Given the description of an element on the screen output the (x, y) to click on. 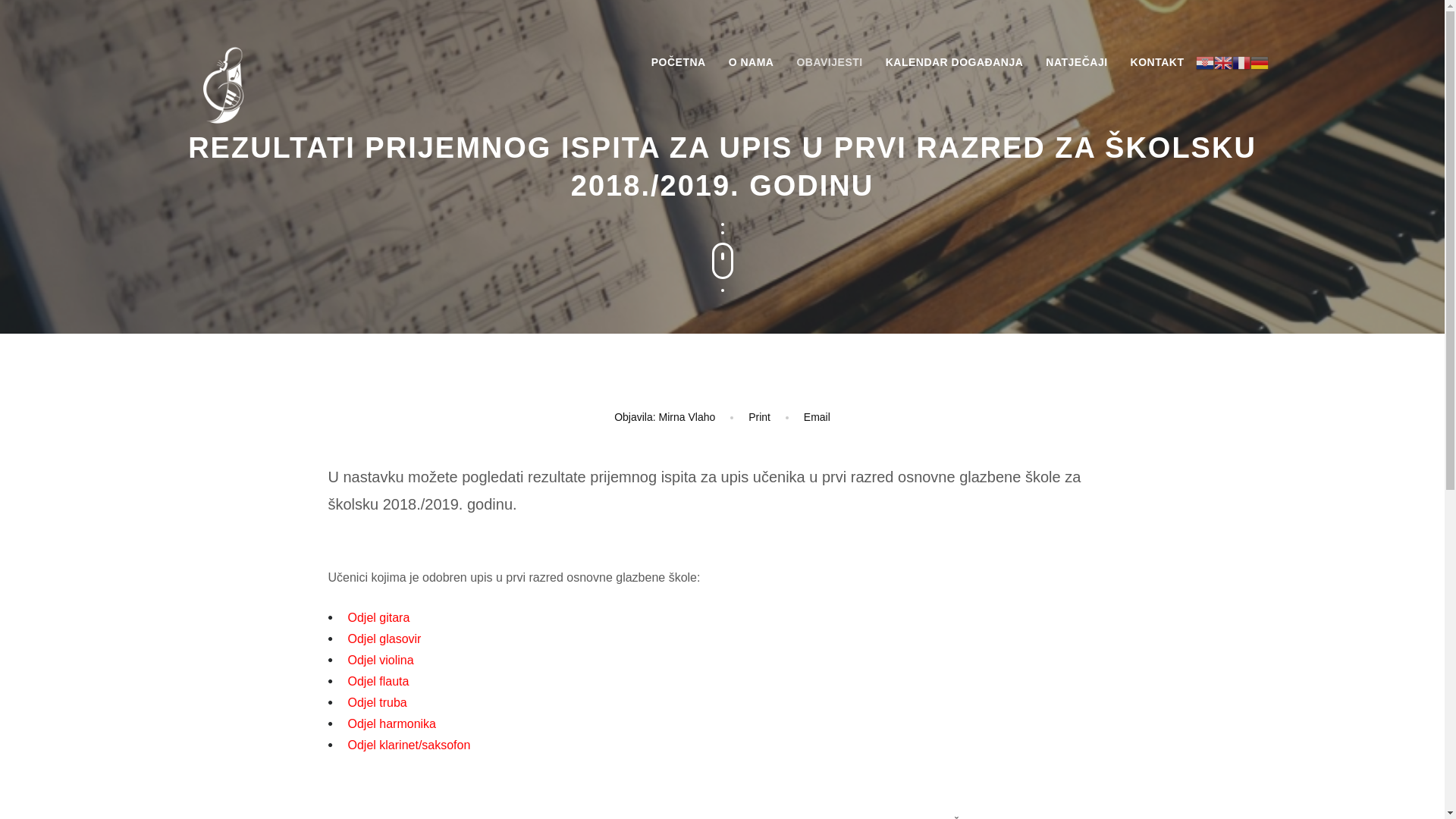
Hrvatski Element type: hover (1204, 62)
Odjel flauta Element type: text (377, 680)
Odjel harmonika Element type: text (391, 723)
Odjel violina Element type: text (380, 659)
Email Element type: text (816, 417)
Odjel truba Element type: text (376, 702)
English Element type: hover (1222, 62)
Mirna Vlaho Element type: text (686, 417)
Odjel glasovir Element type: text (383, 638)
Odjel klarinet/saksofon Element type: text (408, 744)
KONTAKT Element type: text (1157, 62)
Print Element type: text (759, 417)
OBAVIJESTI Element type: text (828, 62)
Deutsch Element type: hover (1258, 62)
Brotnjo Element type: text (236, 90)
Odjel gitara Element type: text (378, 617)
